Given the description of an element on the screen output the (x, y) to click on. 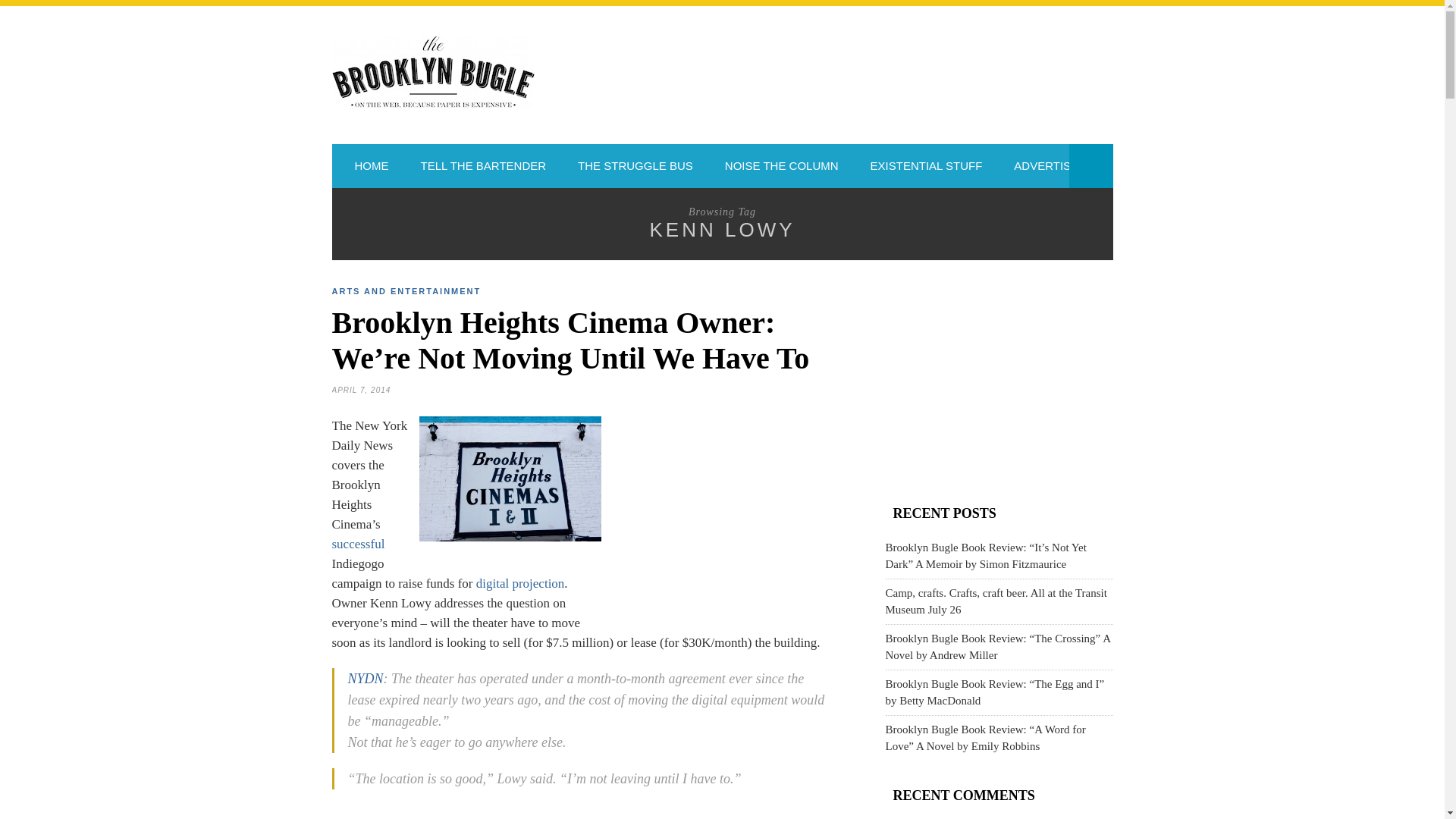
3rd party ad content (733, 518)
TELL THE BARTENDER (483, 166)
NOISE THE COLUMN (781, 166)
digital projection (520, 583)
THE STRUGGLE BUS (635, 166)
ADVERTISE (1045, 166)
ARTS AND ENTERTAINMENT (406, 290)
View all posts in Arts and Entertainment (406, 290)
EXISTENTIAL STUFF (926, 166)
HOME (371, 166)
NYDN (364, 678)
successful (358, 544)
